Given the description of an element on the screen output the (x, y) to click on. 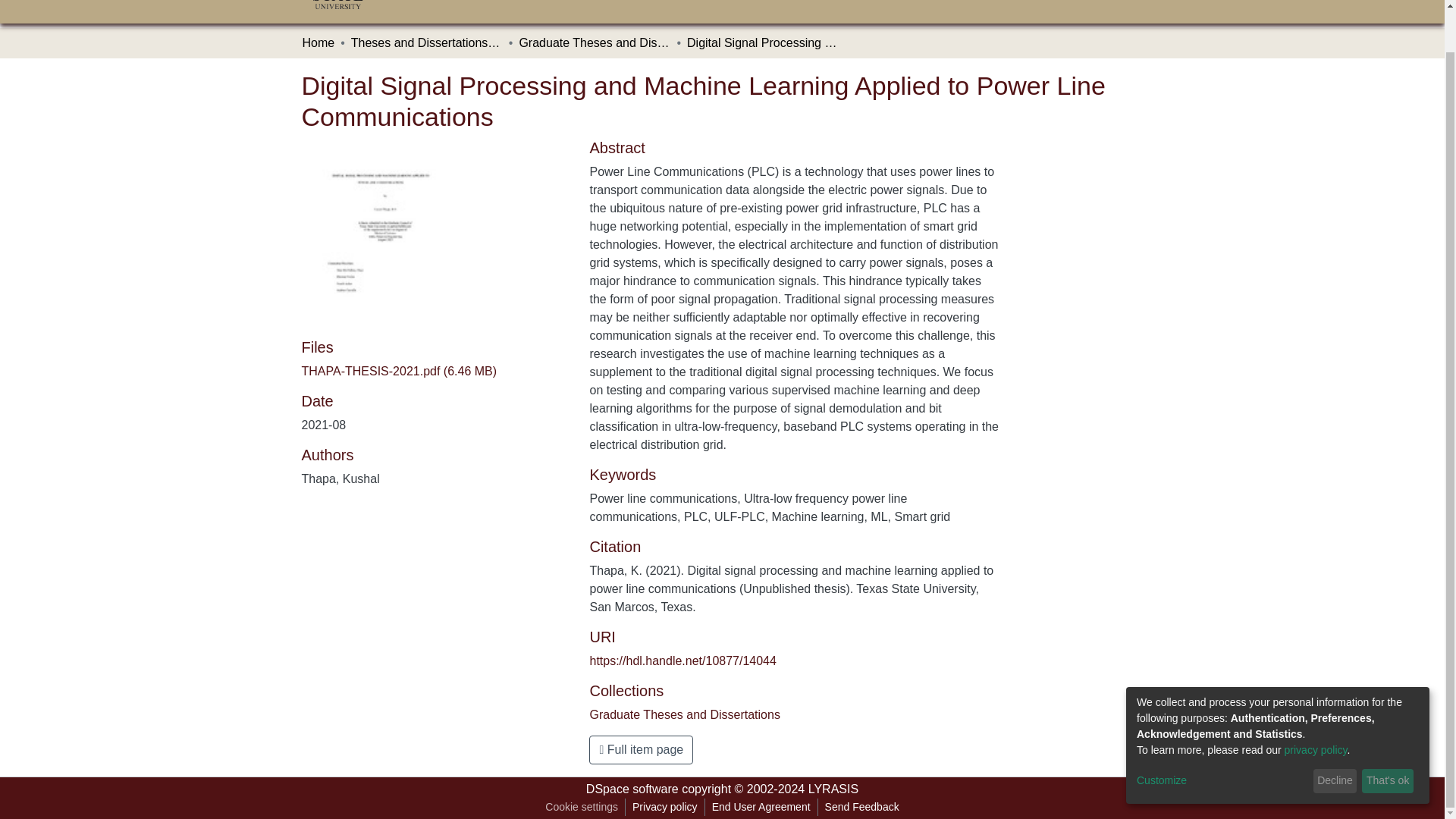
Theses and Dissertations, Capstones, and Directed Research (426, 43)
All of DSpace (592, 2)
Privacy policy (665, 806)
DSpace software (632, 788)
Statistics (670, 2)
privacy policy (1316, 705)
Graduate Theses and Dissertations (683, 714)
Cookie settings (581, 806)
Decline (1334, 735)
Full item page (641, 749)
Log In (1117, 2)
Customize (1222, 735)
End User Agreement (760, 806)
That's ok (1387, 735)
LYRASIS (833, 788)
